Given the description of an element on the screen output the (x, y) to click on. 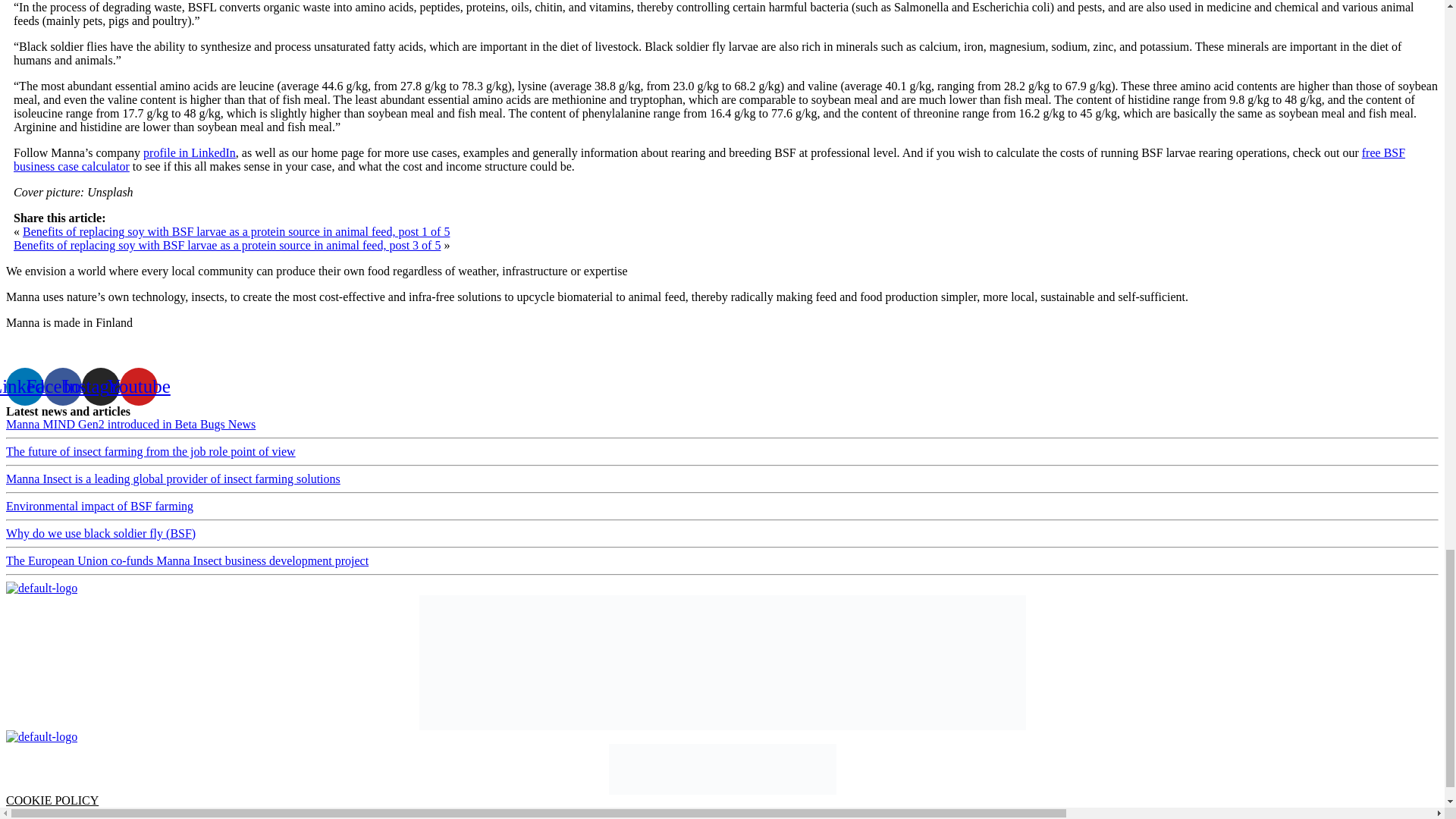
Instagram (100, 386)
Facebook (62, 386)
Youtube (138, 386)
Contact us (31, 348)
profile in LinkedIn (188, 152)
Environmental impact of BSF farming (99, 505)
Linkedin (24, 386)
The future of insect farming from the job role point of view (150, 451)
free BSF business case calculator (709, 159)
Manna MIND Gen2 introduced in Beta Bugs News (130, 423)
